Given the description of an element on the screen output the (x, y) to click on. 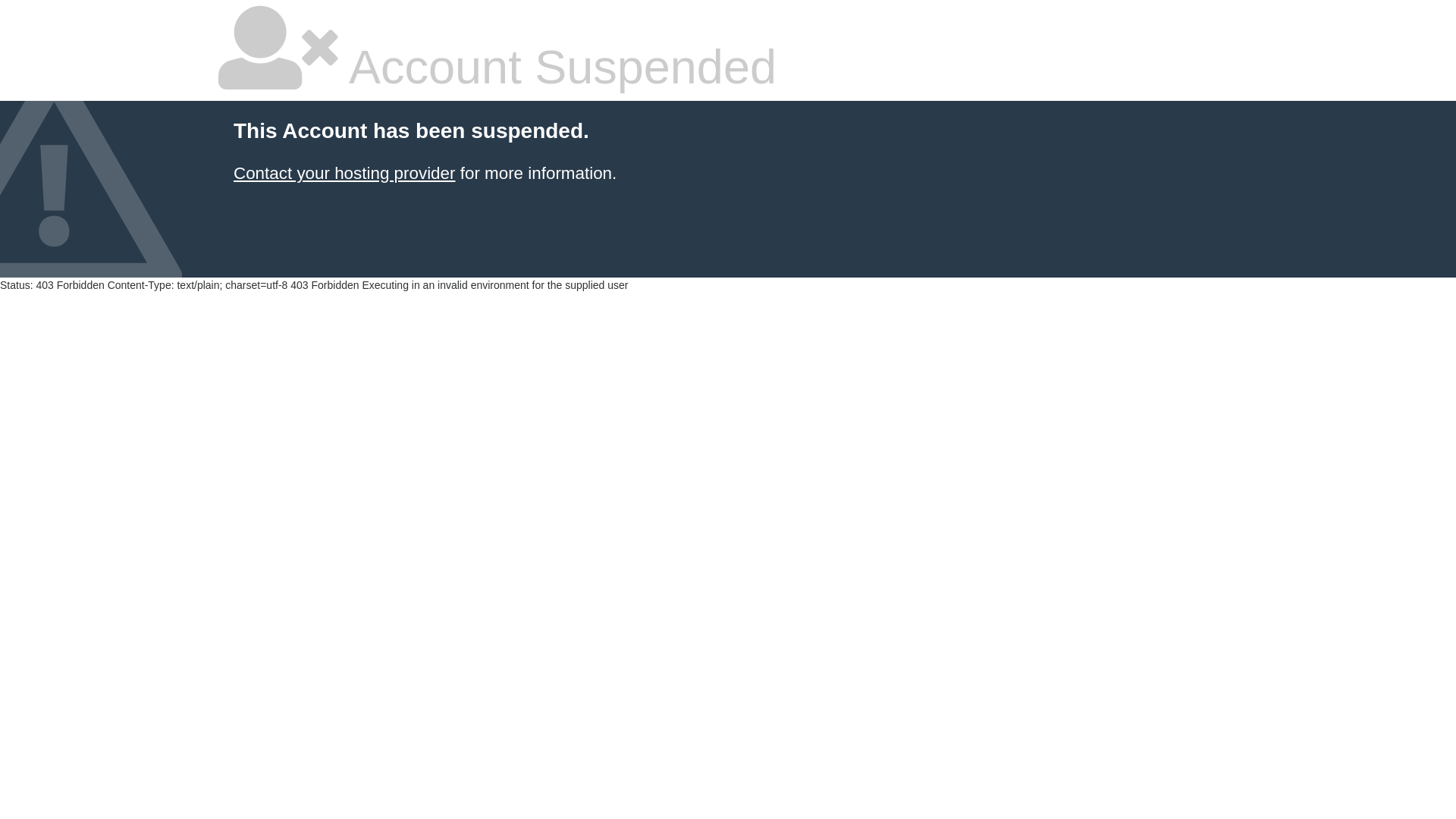
Contact your hosting provider Element type: text (344, 172)
